Given the description of an element on the screen output the (x, y) to click on. 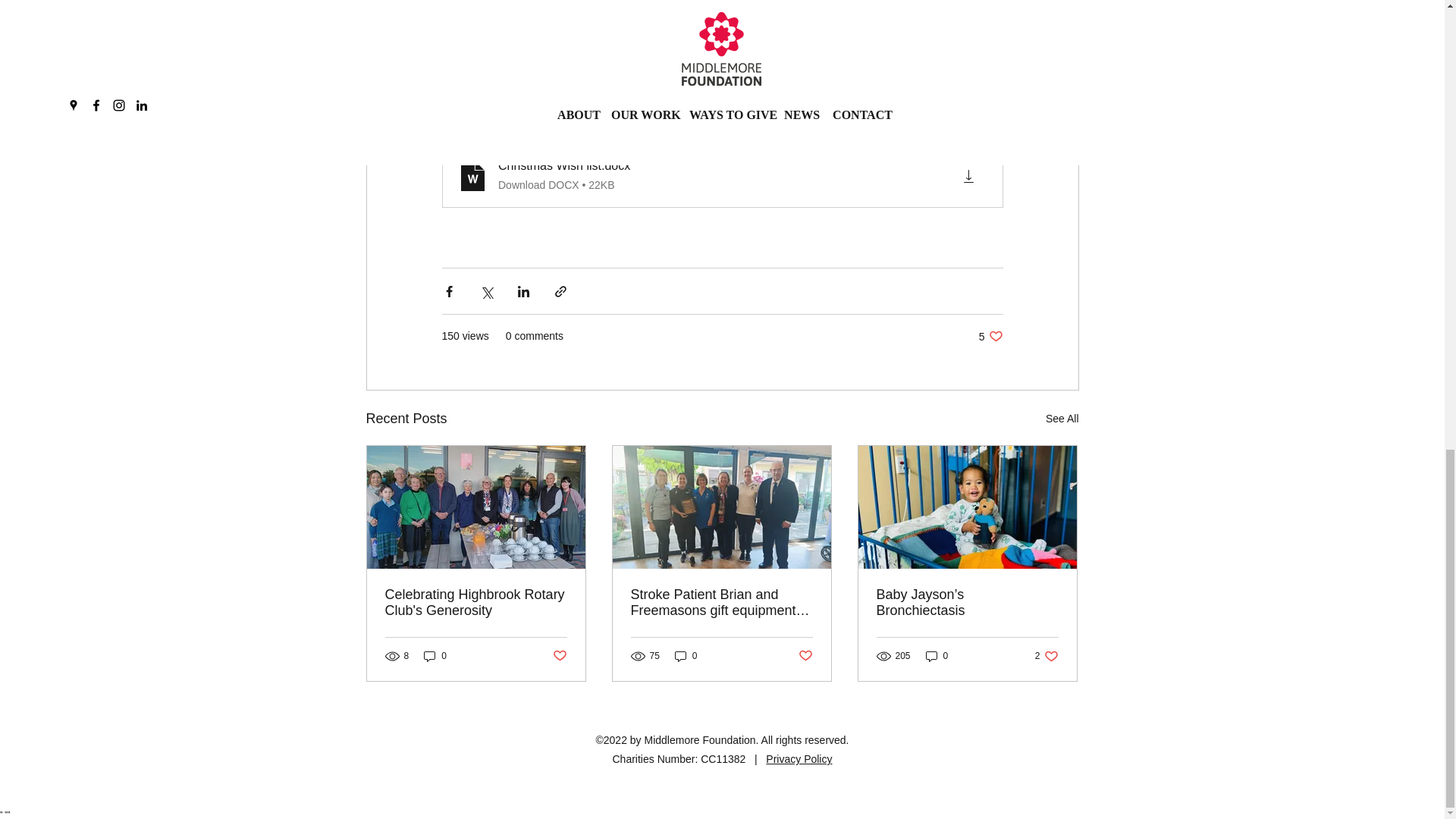
www.kidzfirstchristmas.org.nz (694, 8)
See All (990, 336)
